Given the description of an element on the screen output the (x, y) to click on. 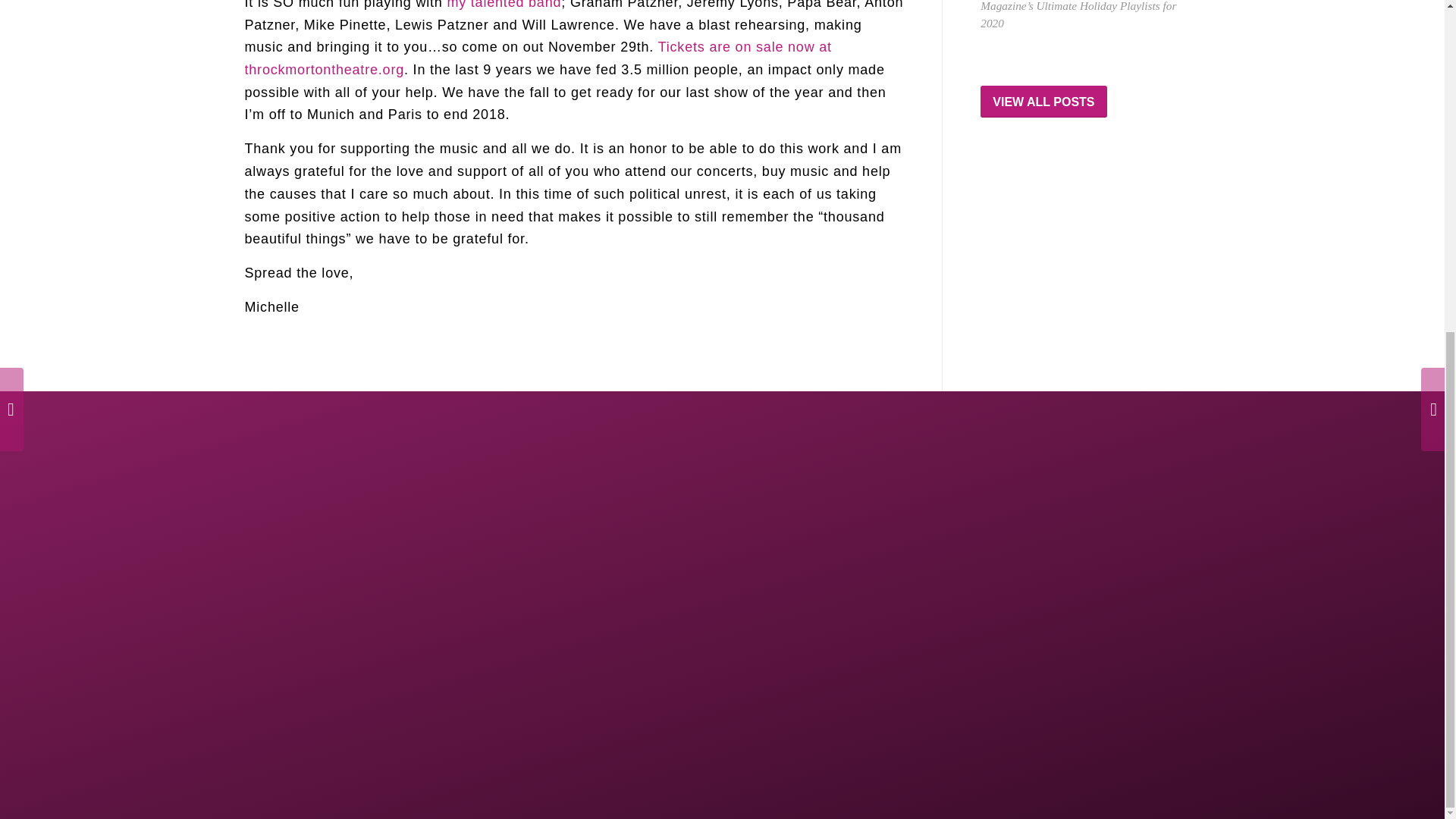
VIEW ALL POSTS (1042, 101)
my talented band (503, 4)
Tickets are on sale now at throckmortontheatre.org (537, 57)
